Given the description of an element on the screen output the (x, y) to click on. 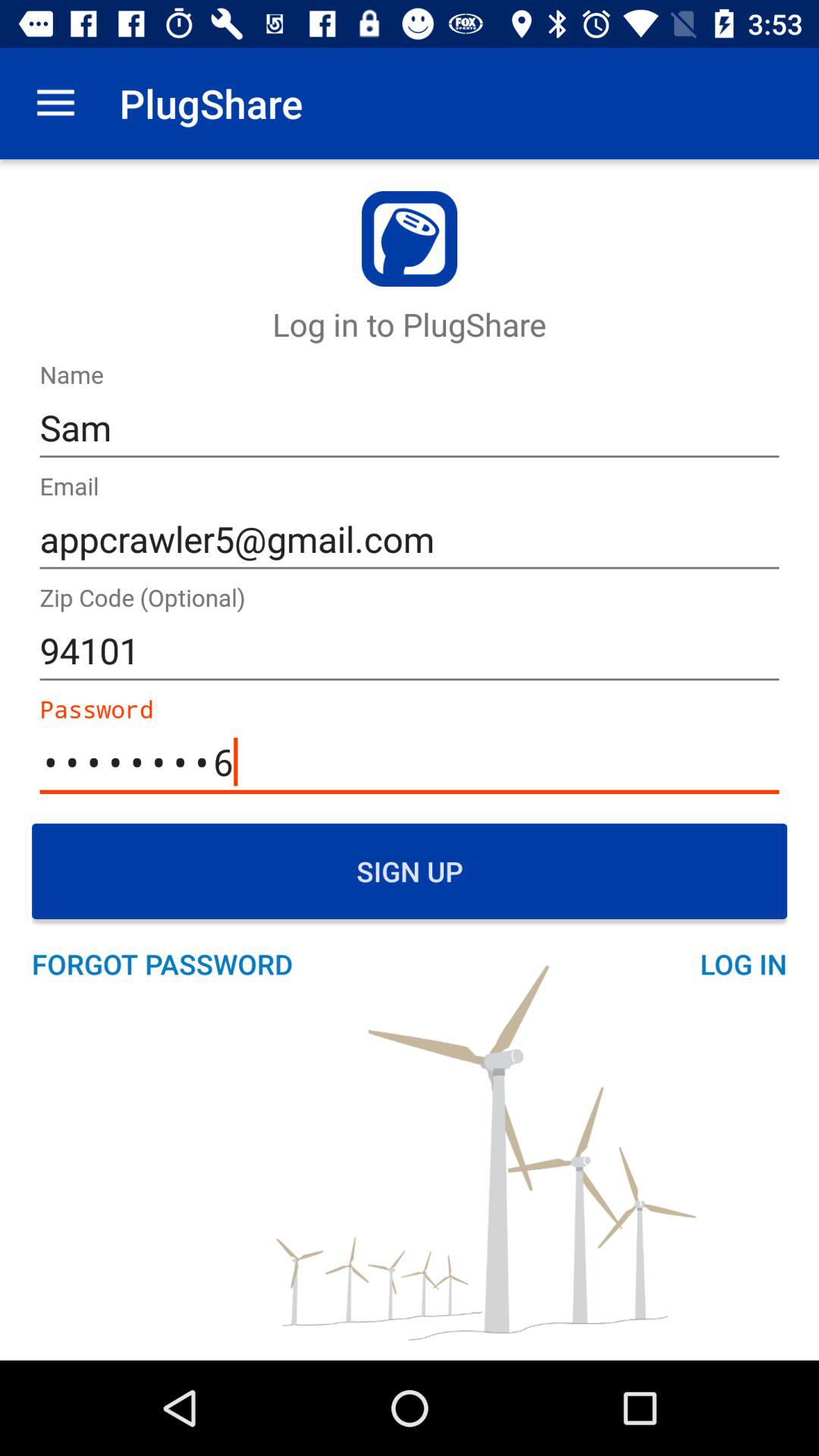
turn off icon below the sign up icon (169, 963)
